Given the description of an element on the screen output the (x, y) to click on. 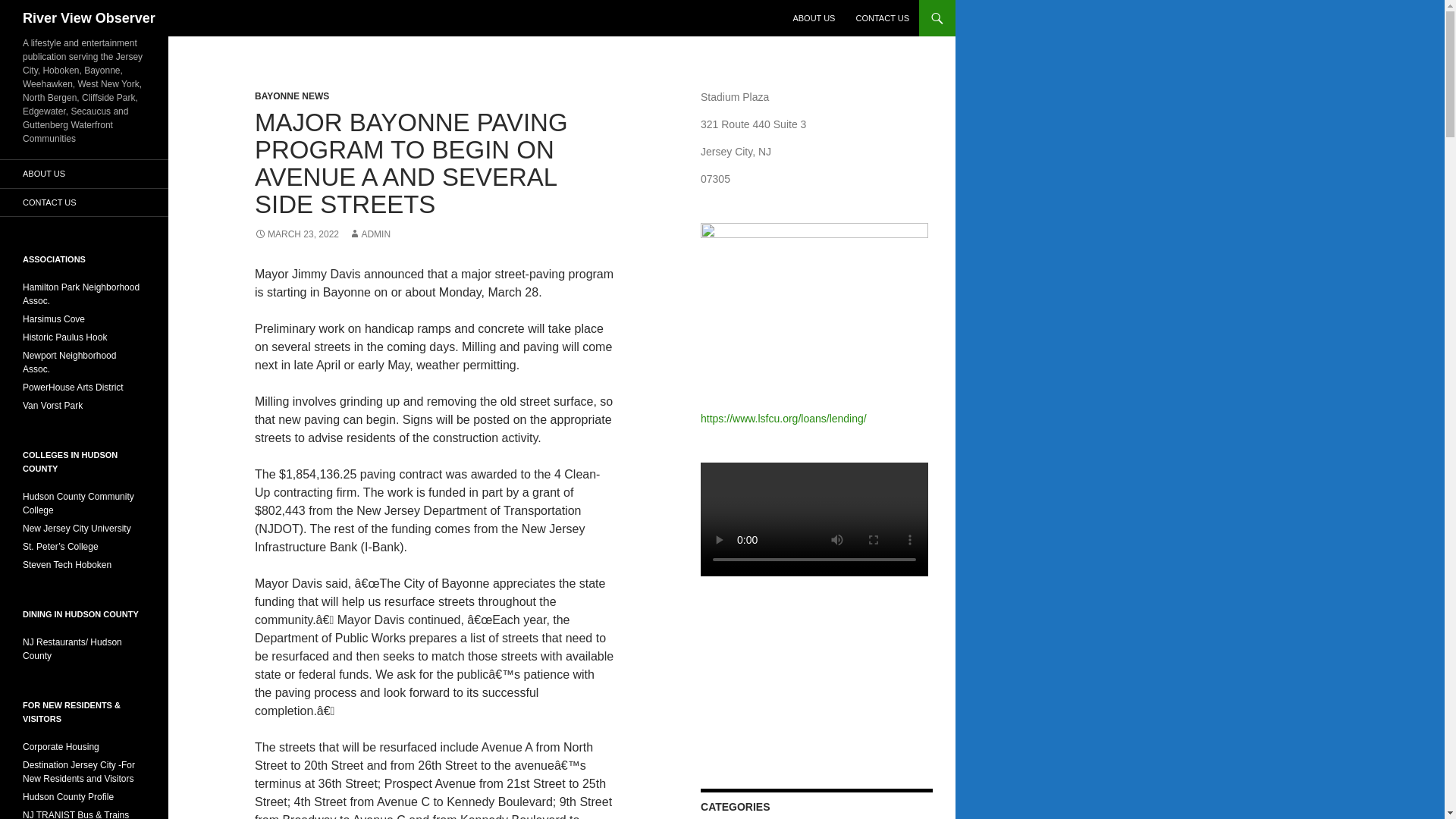
Search (30, 8)
CONTACT US (881, 18)
ABOUT US (813, 18)
River View Observer (89, 18)
MARCH 23, 2022 (296, 234)
BAYONNE NEWS (291, 95)
ADMIN (369, 234)
